Given the description of an element on the screen output the (x, y) to click on. 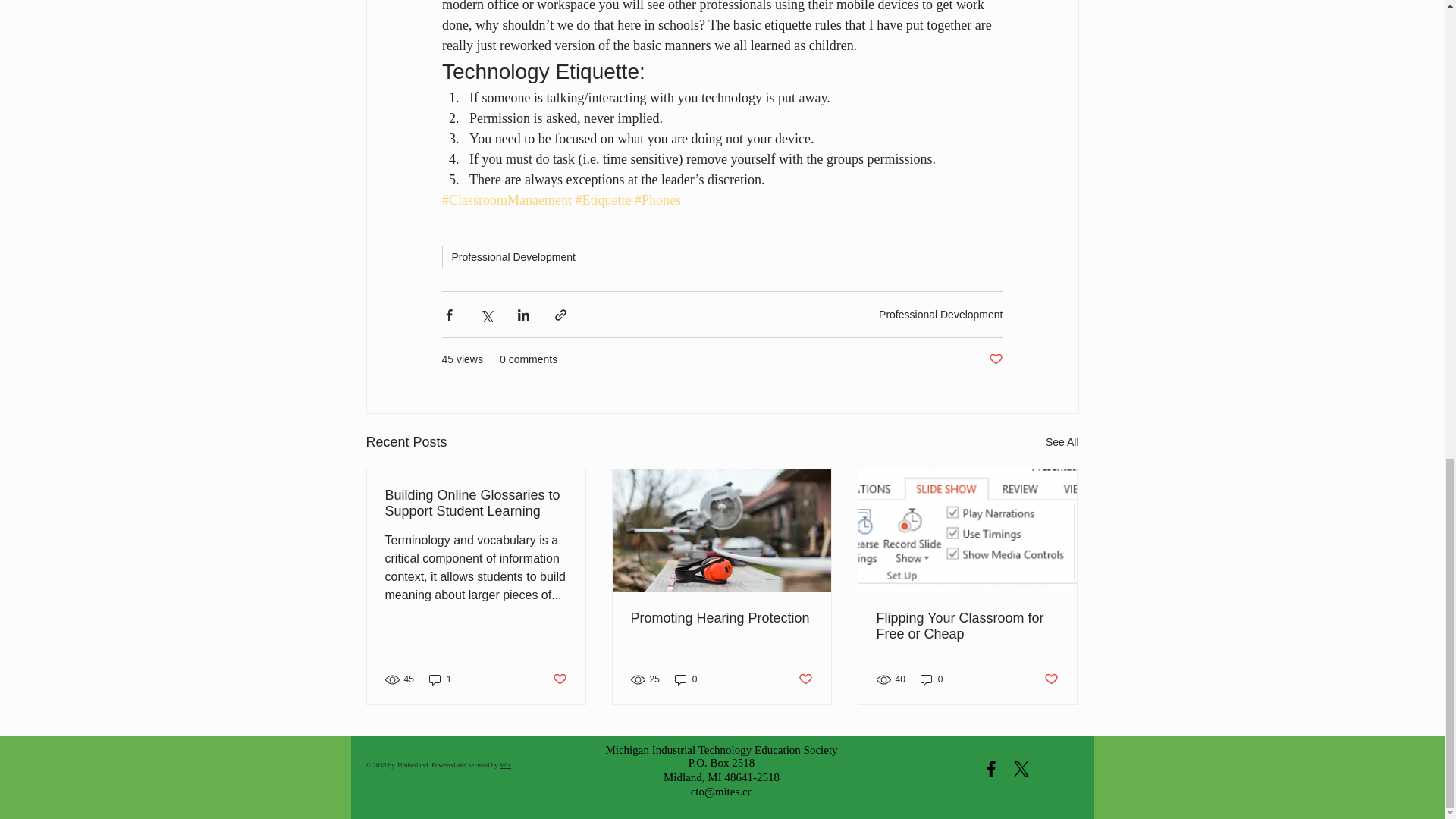
Post not marked as liked (995, 359)
Professional Development (941, 313)
Professional Development (513, 256)
